Given the description of an element on the screen output the (x, y) to click on. 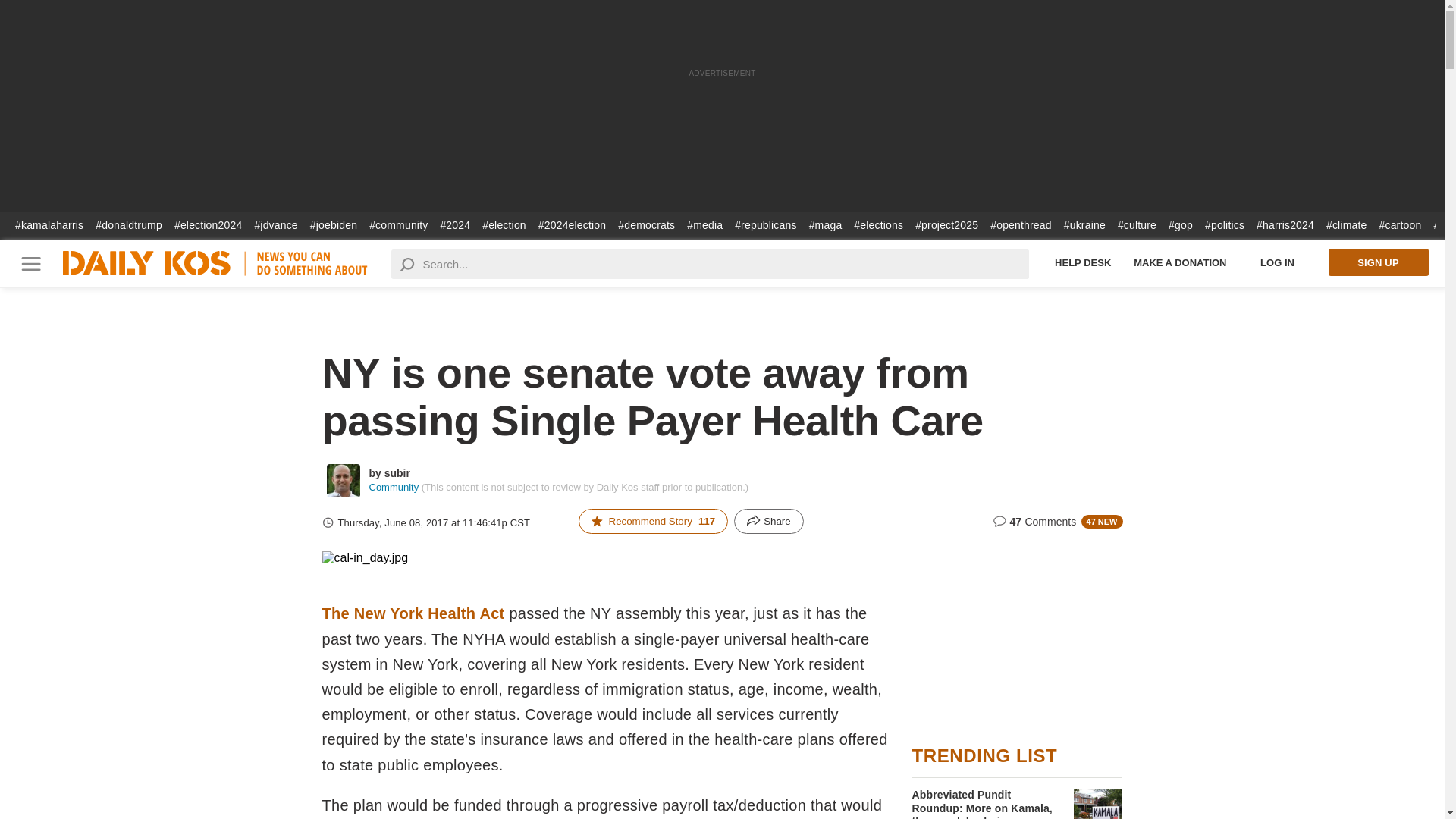
Make a Donation (1179, 262)
Help Desk (1082, 262)
MAKE A DONATION (1179, 262)
